Given the description of an element on the screen output the (x, y) to click on. 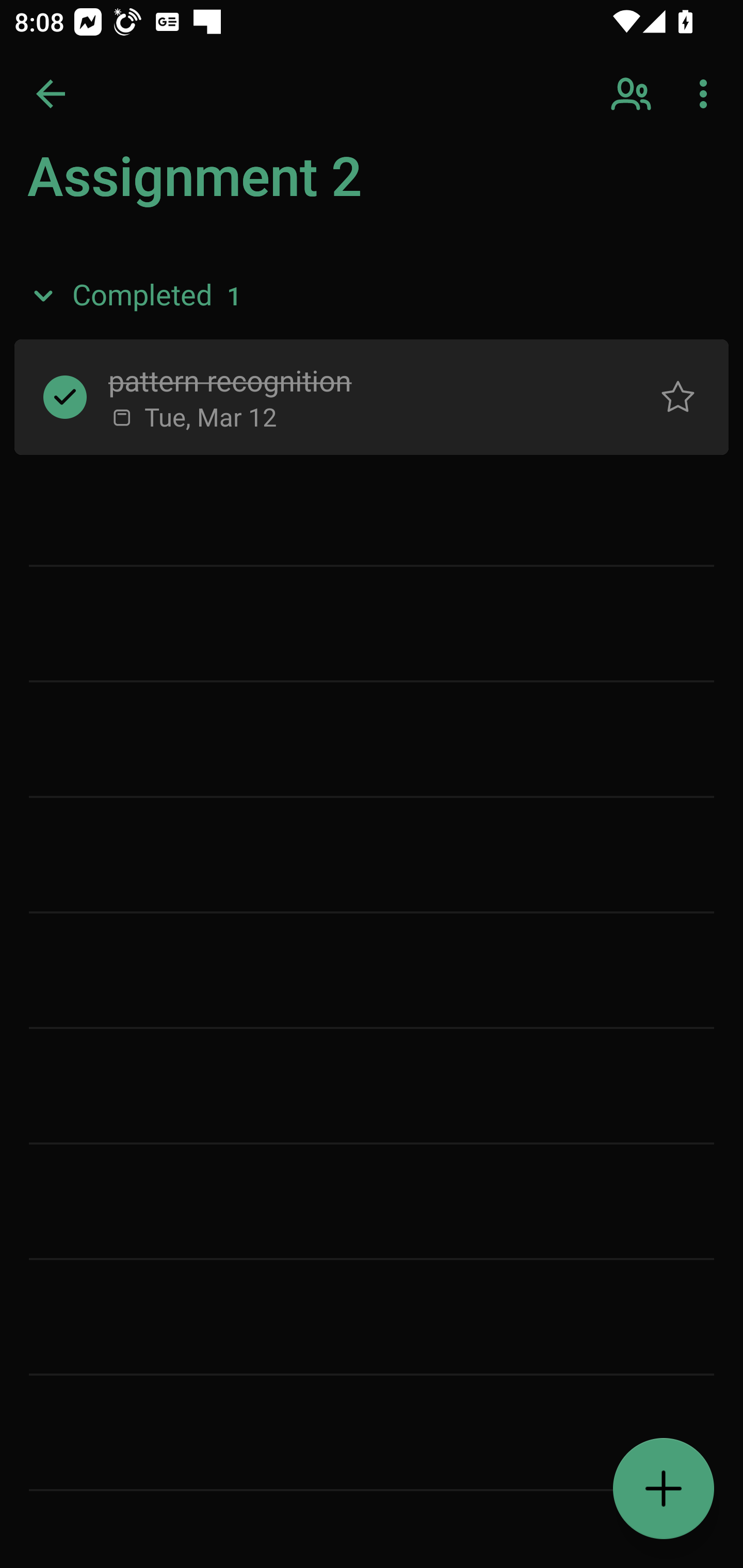
Back (50, 93)
Sharing options (632, 93)
More options (706, 93)
My Day, 0 tasks (182, 187)
Completed, 1 item, Expanded Completed 1 (371, 295)
Completed task pattern recognition, Button (64, 397)
Normal task pattern recognition, Button (677, 397)
pattern recognition (356, 379)
Add a task (663, 1488)
